Given the description of an element on the screen output the (x, y) to click on. 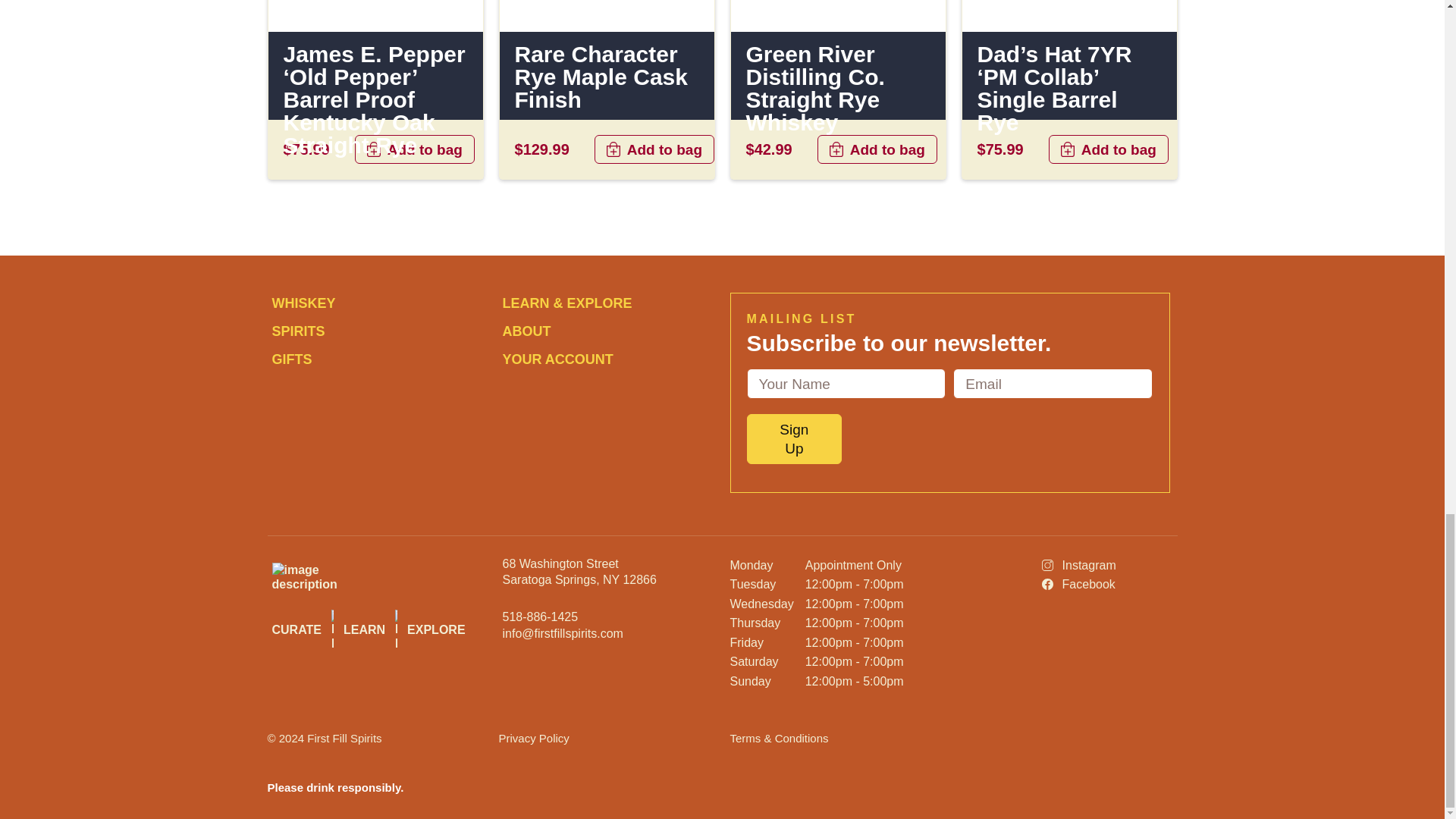
Add to bag (654, 149)
Add to bag (414, 149)
Rare Character Rye Maple Cask Finish (605, 77)
